Given the description of an element on the screen output the (x, y) to click on. 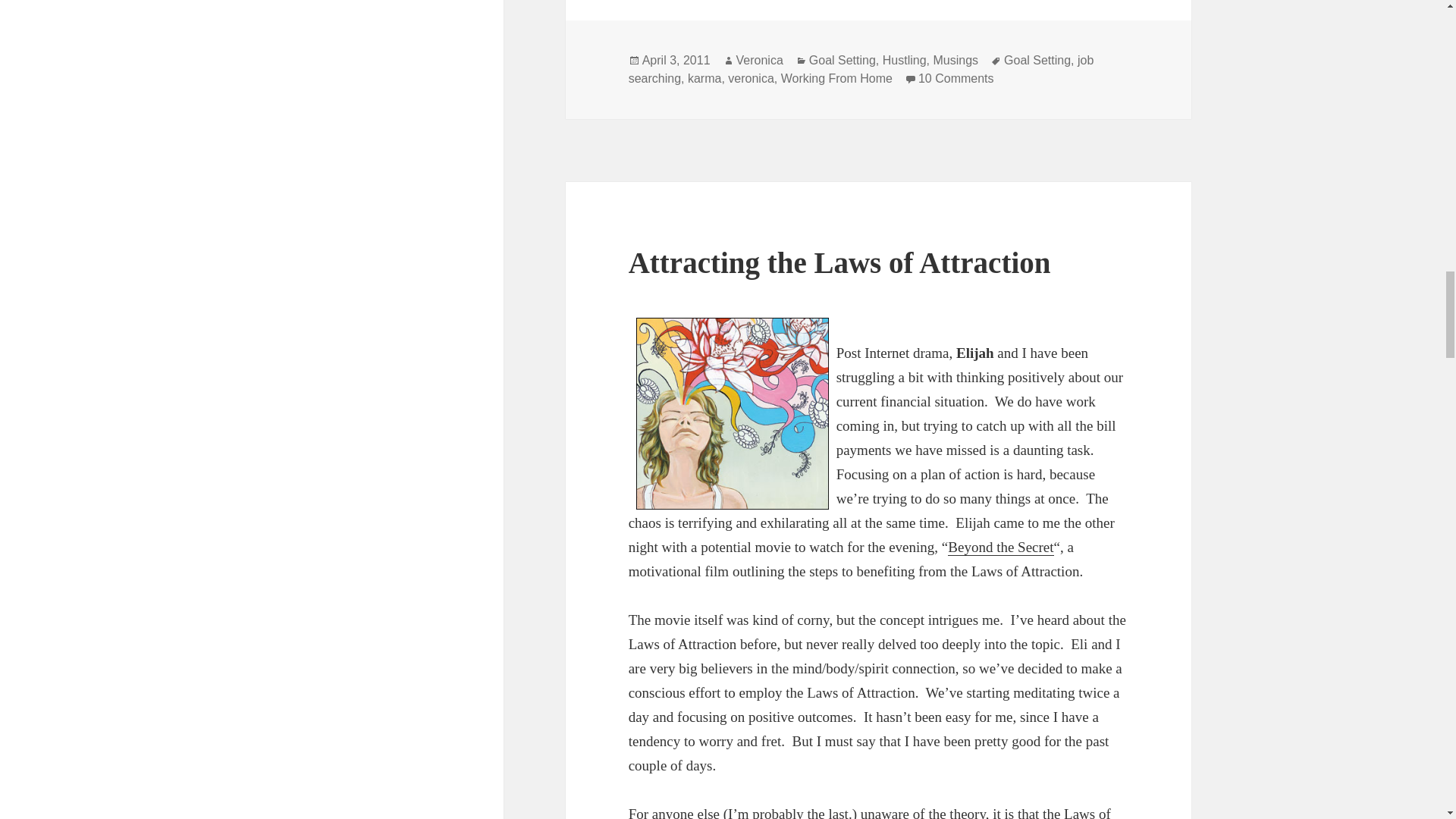
yaeger (732, 412)
